Given the description of an element on the screen output the (x, y) to click on. 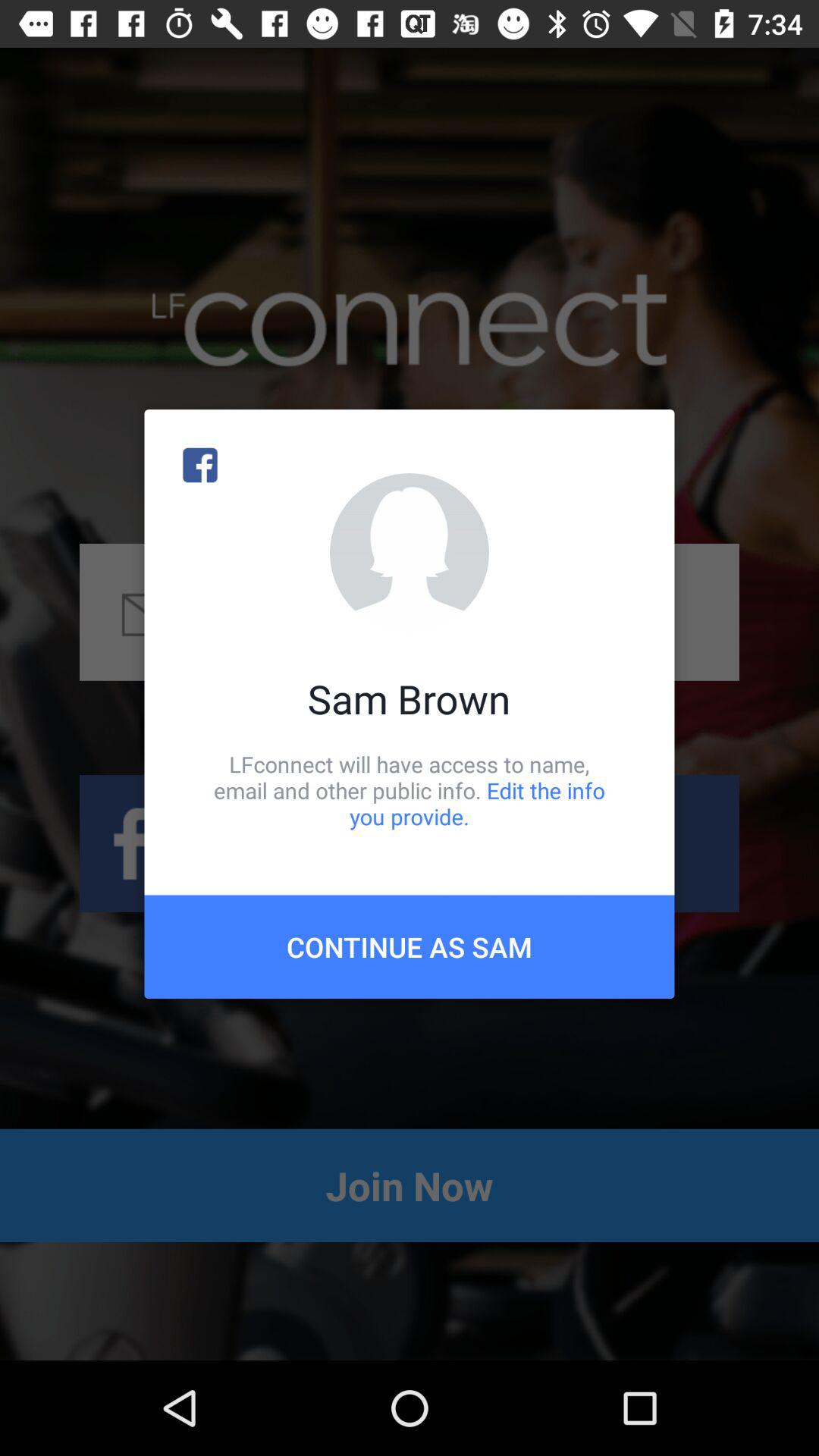
flip to the continue as sam icon (409, 946)
